Given the description of an element on the screen output the (x, y) to click on. 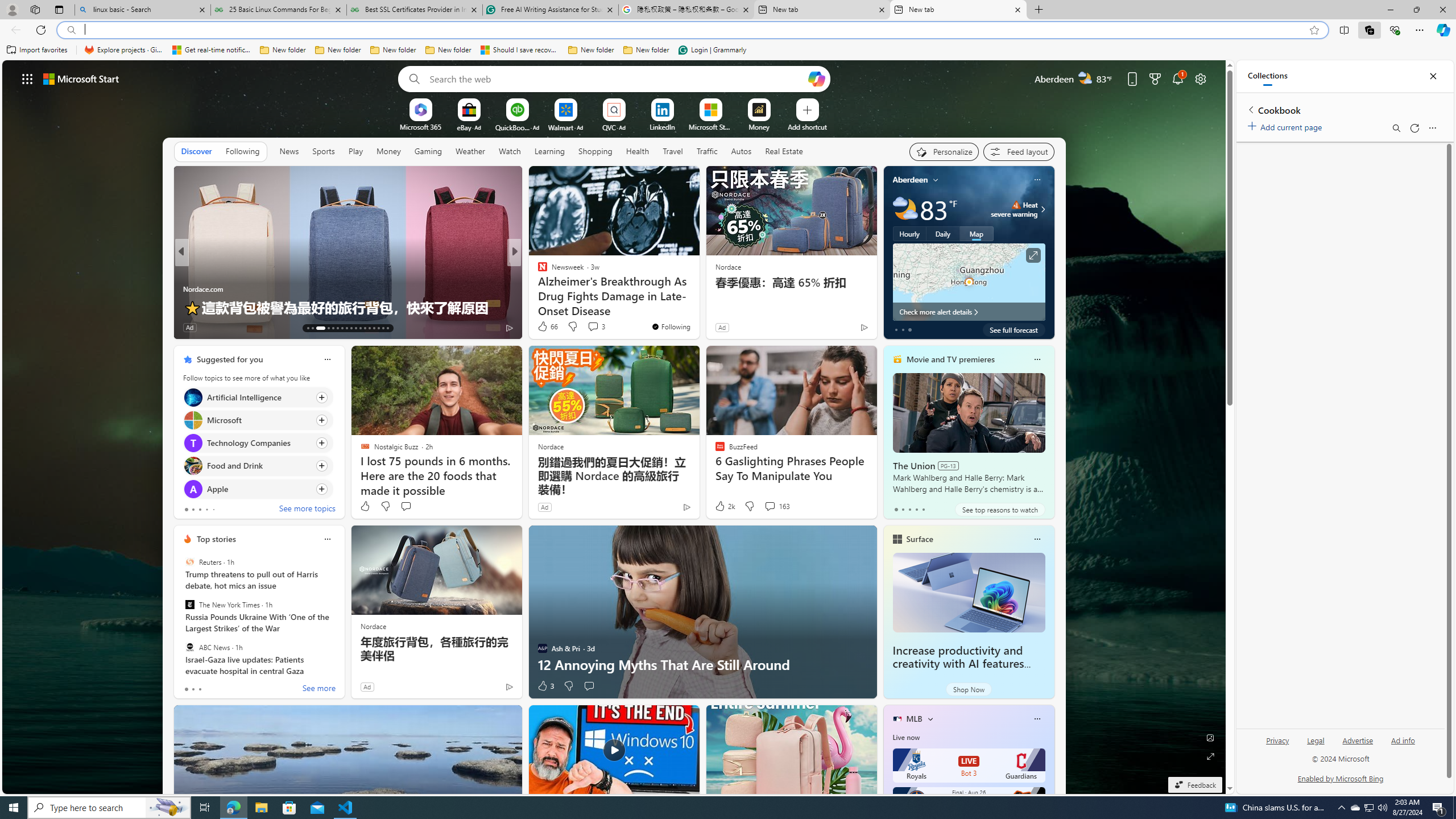
Autos (740, 151)
Suggested for you (229, 359)
View comments 115 Comment (599, 327)
Microsoft start (81, 78)
tab-3 (916, 509)
Weather (470, 151)
Personalize your feed" (943, 151)
Housely (537, 288)
Feed settings (1018, 151)
80 Like (192, 327)
